Given the description of an element on the screen output the (x, y) to click on. 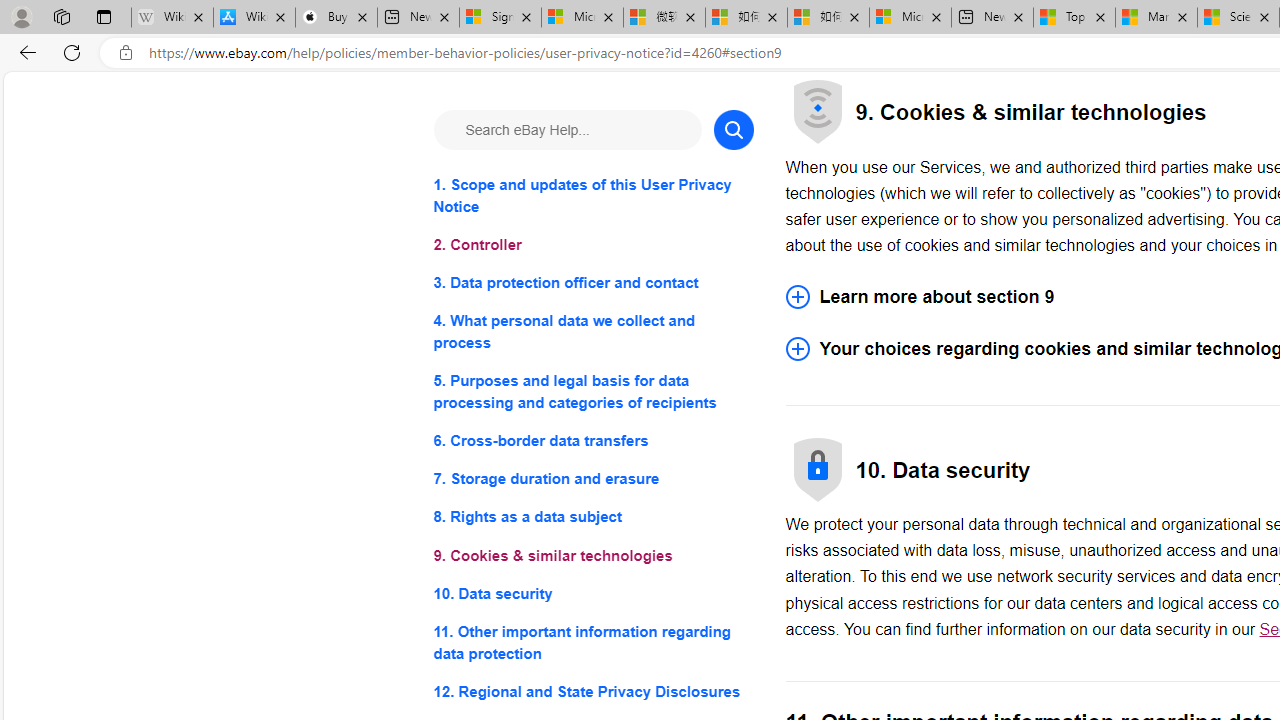
1. Scope and updates of this User Privacy Notice (592, 196)
3. Data protection officer and contact (592, 283)
9. Cookies & similar technologies (592, 555)
9. Cookies & similar technologies (592, 555)
6. Cross-border data transfers (592, 440)
1. Scope and updates of this User Privacy Notice (592, 196)
8. Rights as a data subject (592, 517)
